Given the description of an element on the screen output the (x, y) to click on. 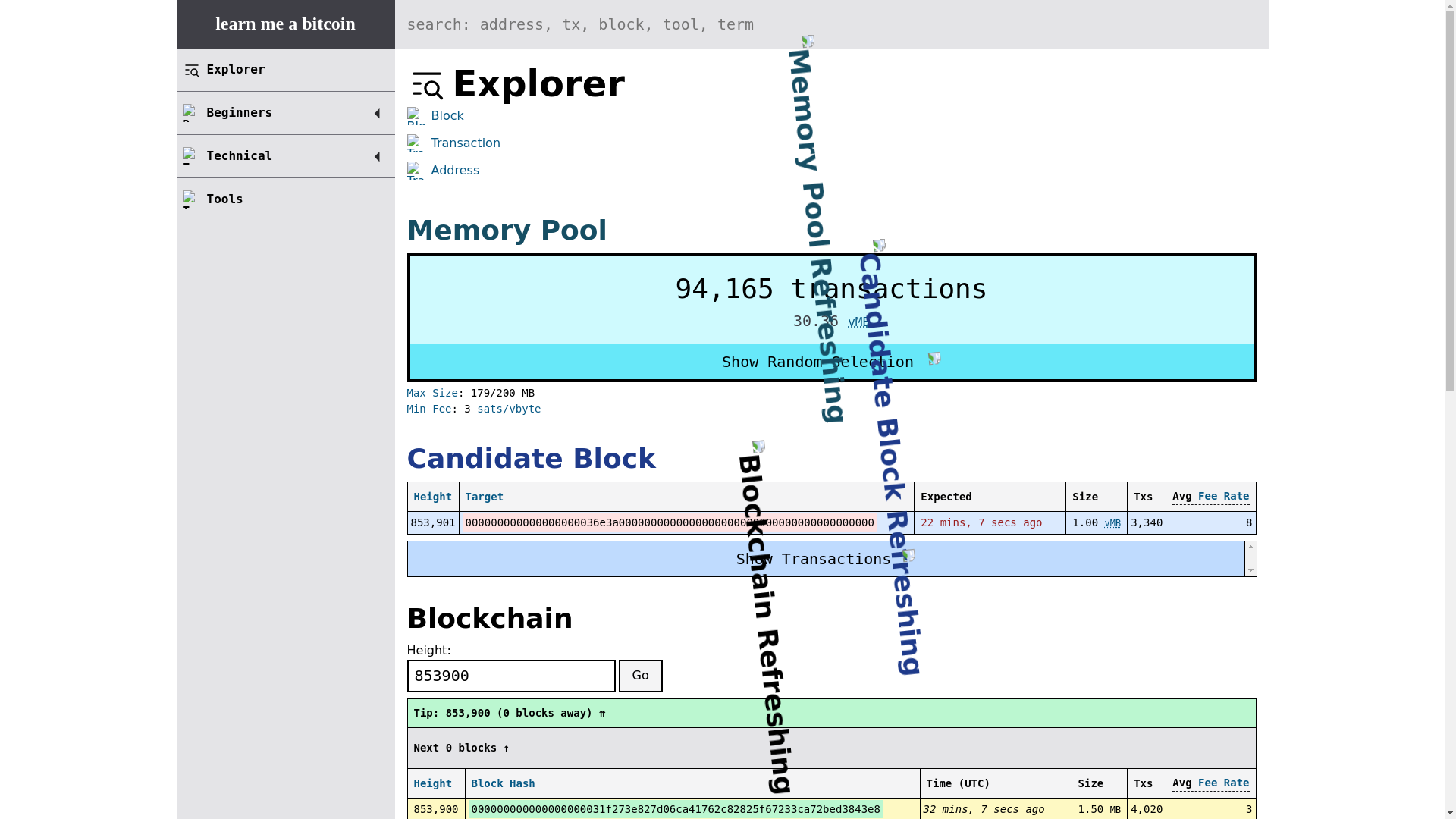
learn me a bitcoin (285, 24)
Technical (239, 155)
Beginners (239, 112)
Virtual Megabytes (858, 321)
Explorer (285, 69)
853900 (510, 676)
